Given the description of an element on the screen output the (x, y) to click on. 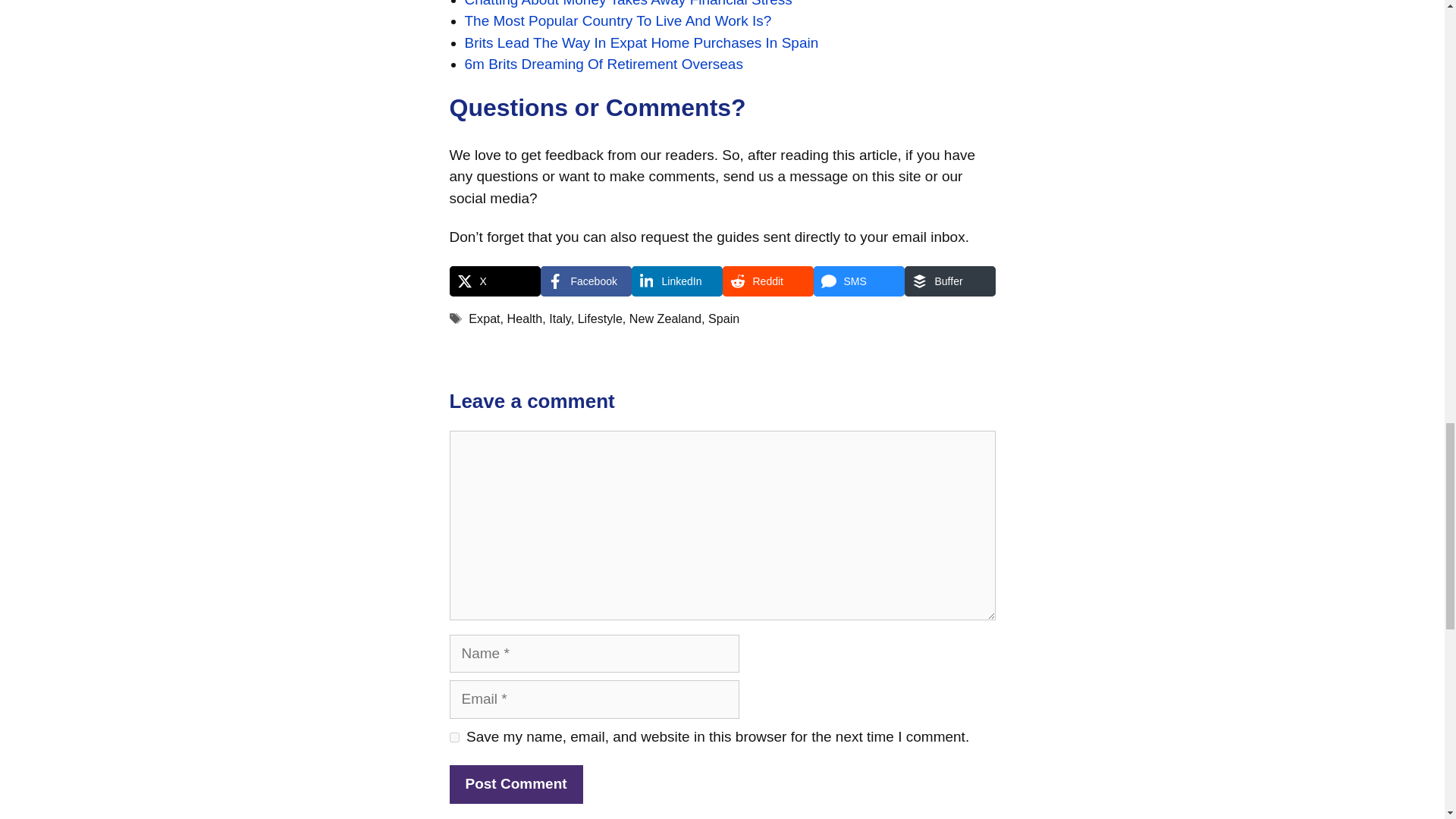
Reddit (767, 281)
Buffer (949, 281)
Health (524, 318)
Spain (723, 318)
Chatting About Money Takes Away Financial Stress (628, 3)
Expat (483, 318)
X (494, 281)
LinkedIn (676, 281)
6m Brits Dreaming Of Retirement Overseas (603, 64)
The Most Popular Country To Live And Work Is? (617, 20)
Post Comment (515, 783)
Lifestyle (600, 318)
SMS (858, 281)
Brits Lead The Way In Expat Home Purchases In Spain (641, 42)
New Zealand (664, 318)
